Given the description of an element on the screen output the (x, y) to click on. 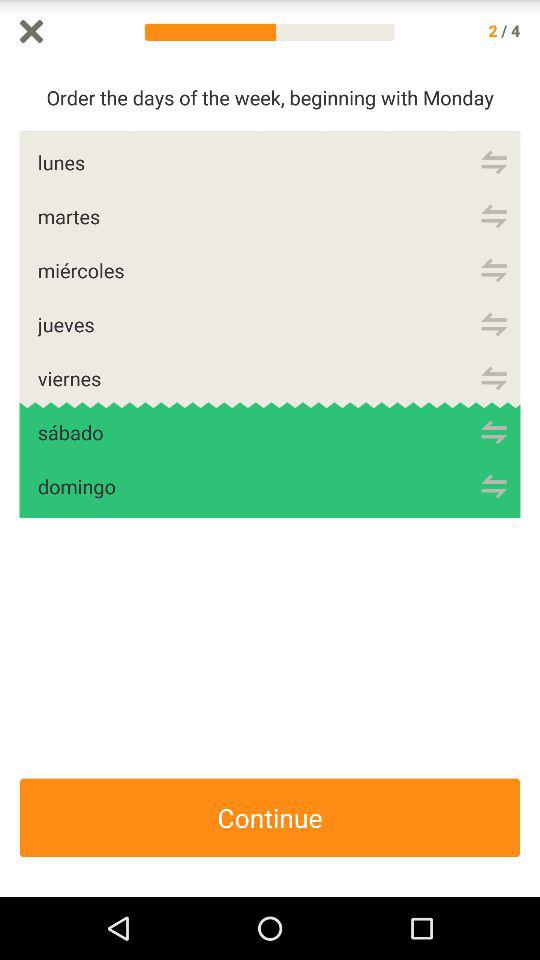
hold to change the position of items (494, 270)
